Given the description of an element on the screen output the (x, y) to click on. 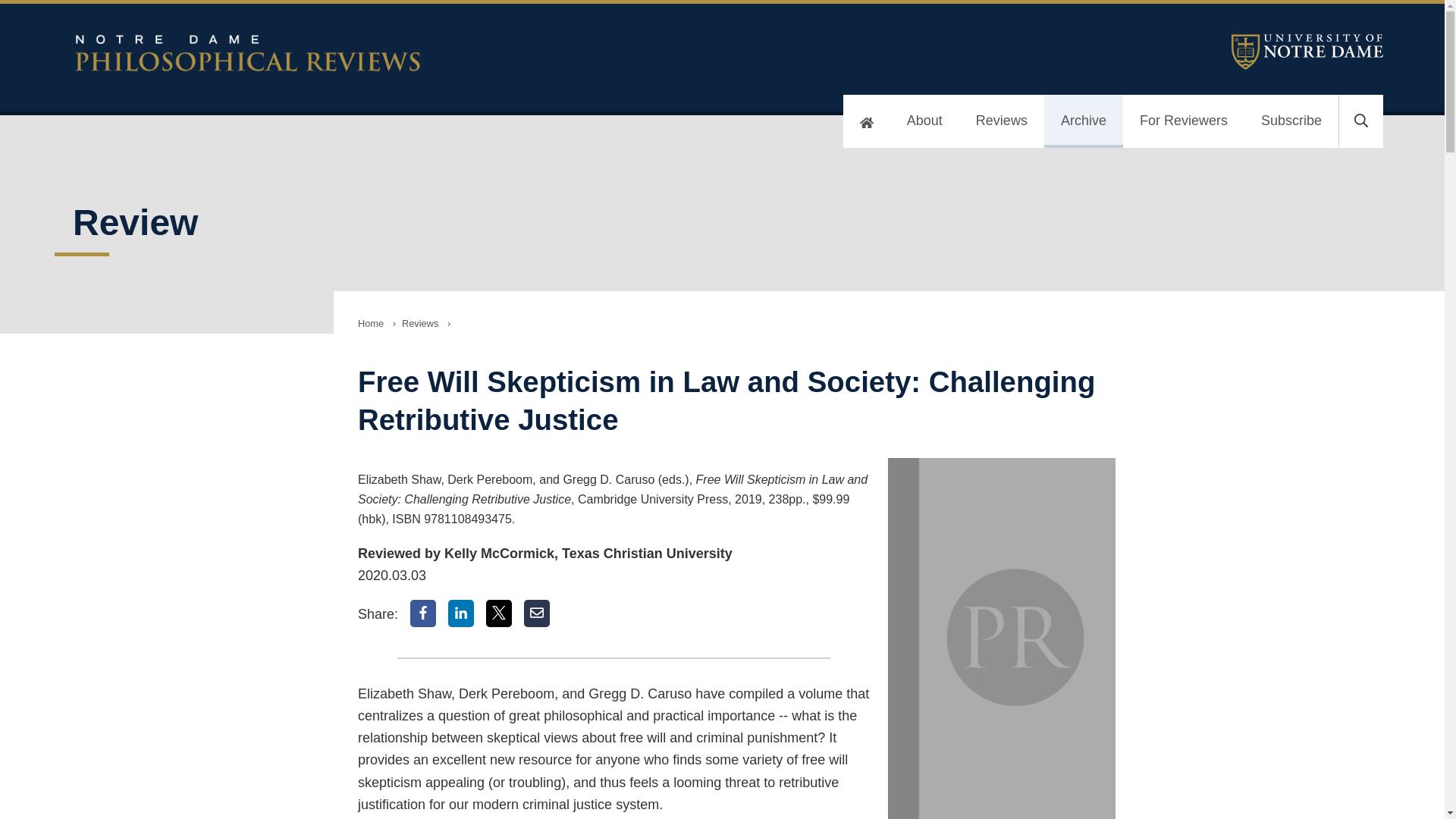
Archive (1082, 121)
LinkedIn (461, 613)
Reviews (1001, 121)
For Reviewers (1183, 121)
Email (537, 613)
Home (371, 323)
Notre Dame Philosophical Reviews (436, 53)
University of Notre Dame (1307, 51)
Facebook (422, 613)
Subscribe (1291, 121)
